Given the description of an element on the screen output the (x, y) to click on. 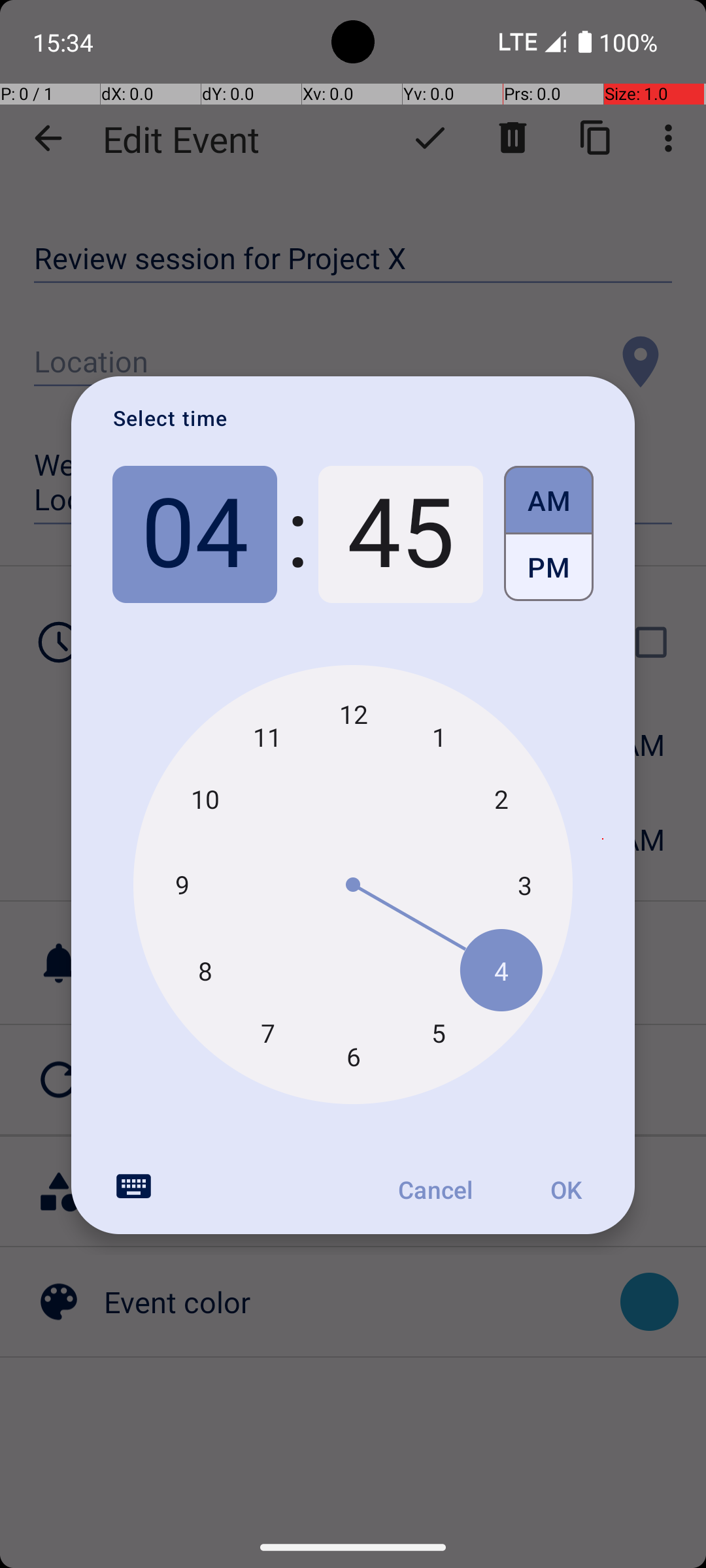
04 Element type: android.view.View (194, 534)
Select AM or PM Element type: android.widget.LinearLayout (548, 534)
